Given the description of an element on the screen output the (x, y) to click on. 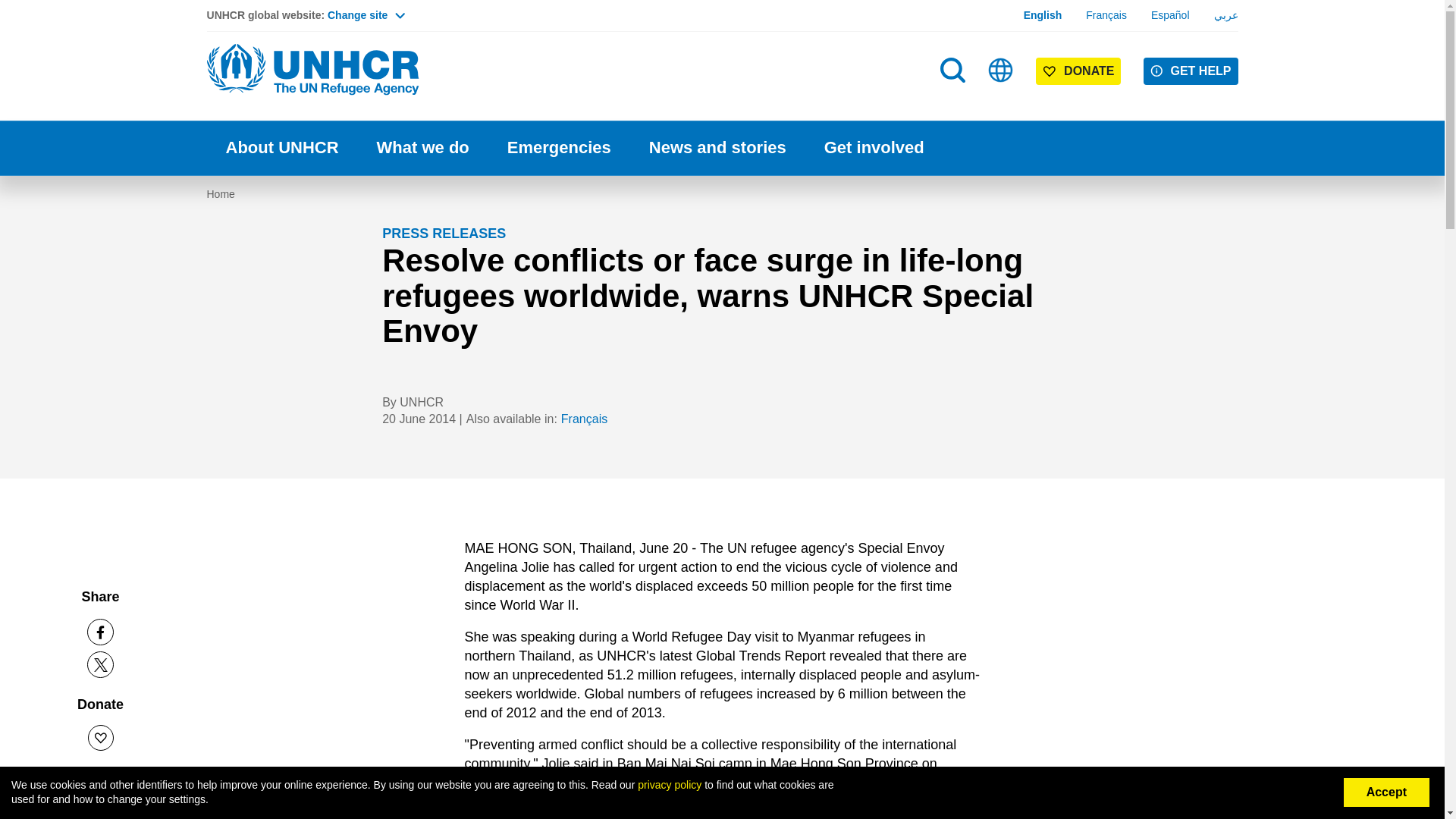
DONATE (1078, 71)
Search (952, 69)
English (1042, 15)
Home (312, 69)
Sites (1000, 69)
GET HELP (1189, 71)
Skip to main content (721, 1)
About UNHCR (281, 148)
Change site (365, 15)
Search (954, 99)
